Given the description of an element on the screen output the (x, y) to click on. 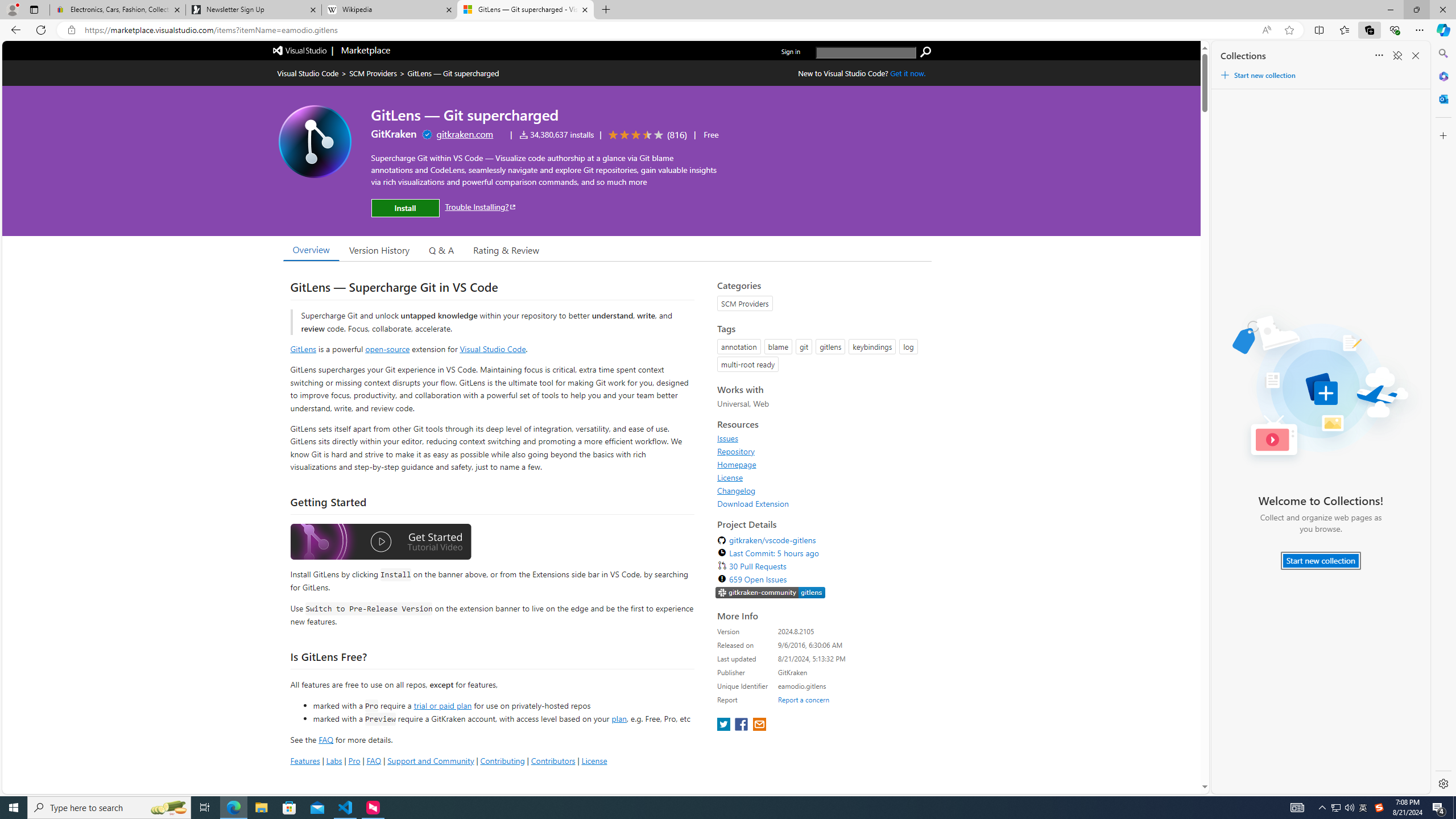
search (925, 52)
Get Visual Studio Code Now (907, 72)
https://slack.gitkraken.com// (769, 593)
Contributors (552, 760)
Support and Community (430, 760)
Watch the GitLens Getting Started video (380, 543)
FAQ (373, 760)
